Given the description of an element on the screen output the (x, y) to click on. 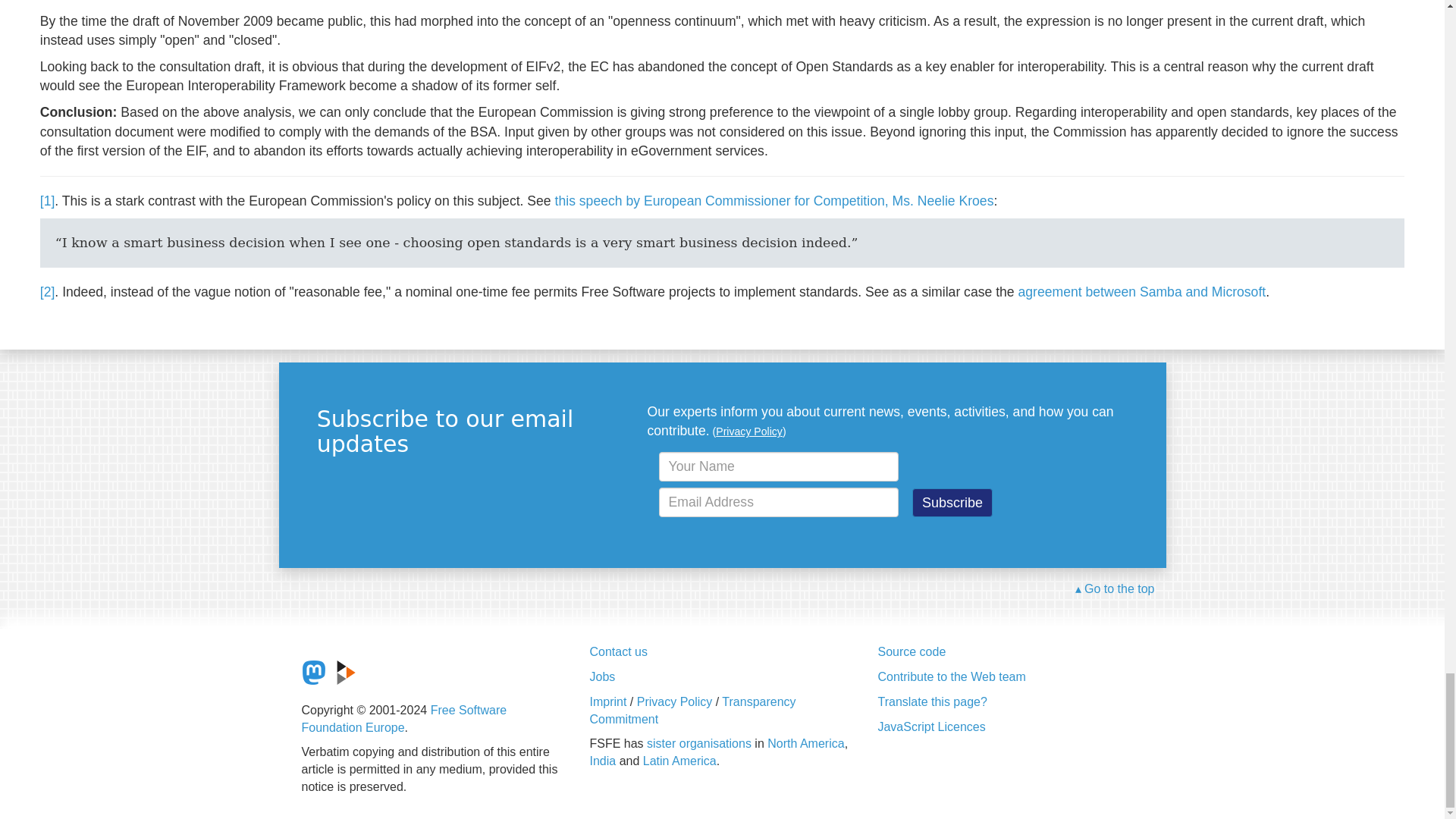
Mastodon (313, 672)
Peertube (345, 672)
Subscribe (952, 502)
